Given the description of an element on the screen output the (x, y) to click on. 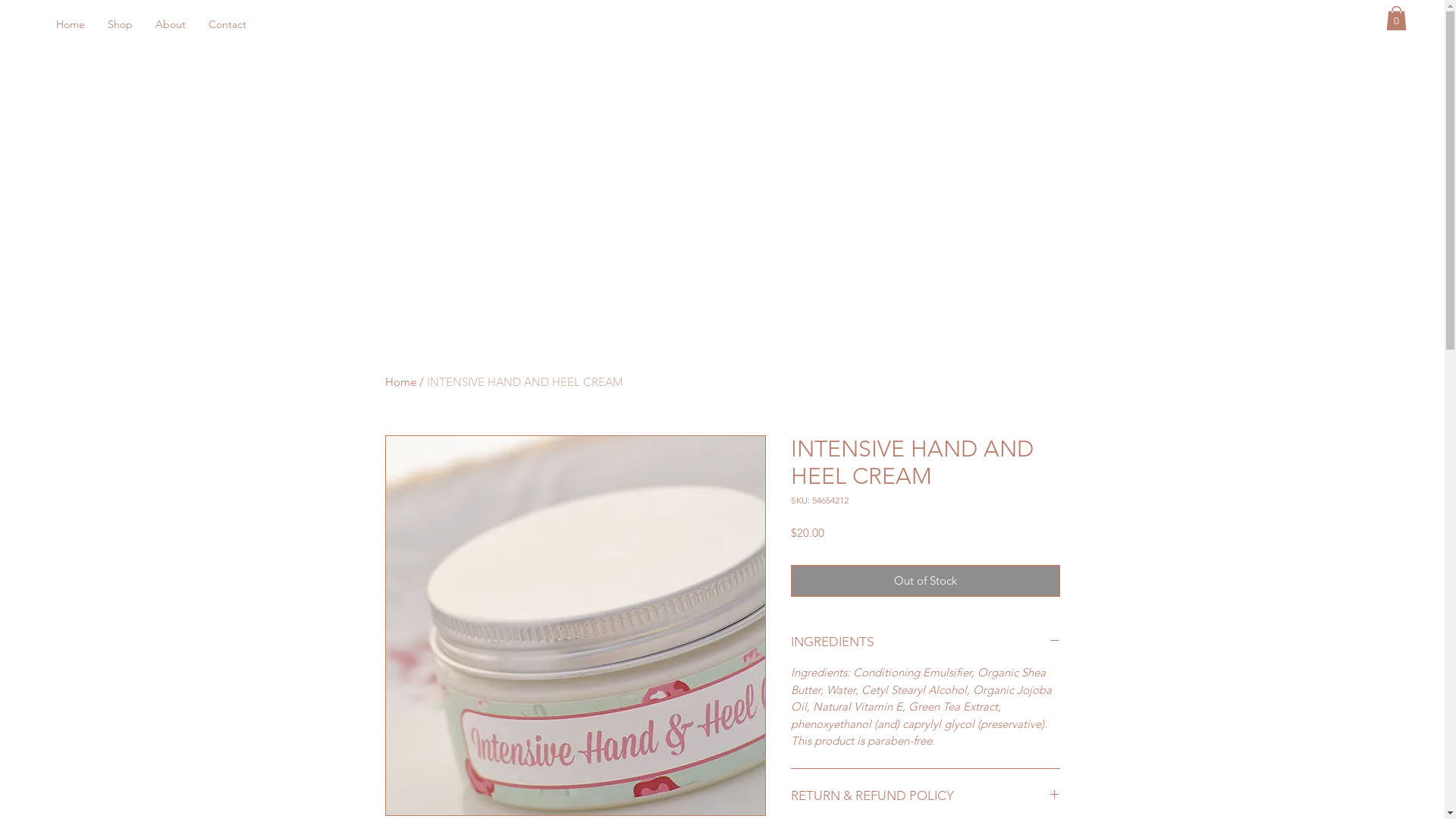
Out of Stock Element type: text (924, 580)
Home Element type: text (400, 381)
RETURN & REFUND POLICY Element type: text (924, 796)
0 Element type: text (1396, 18)
INGREDIENTS Element type: text (924, 642)
